Given the description of an element on the screen output the (x, y) to click on. 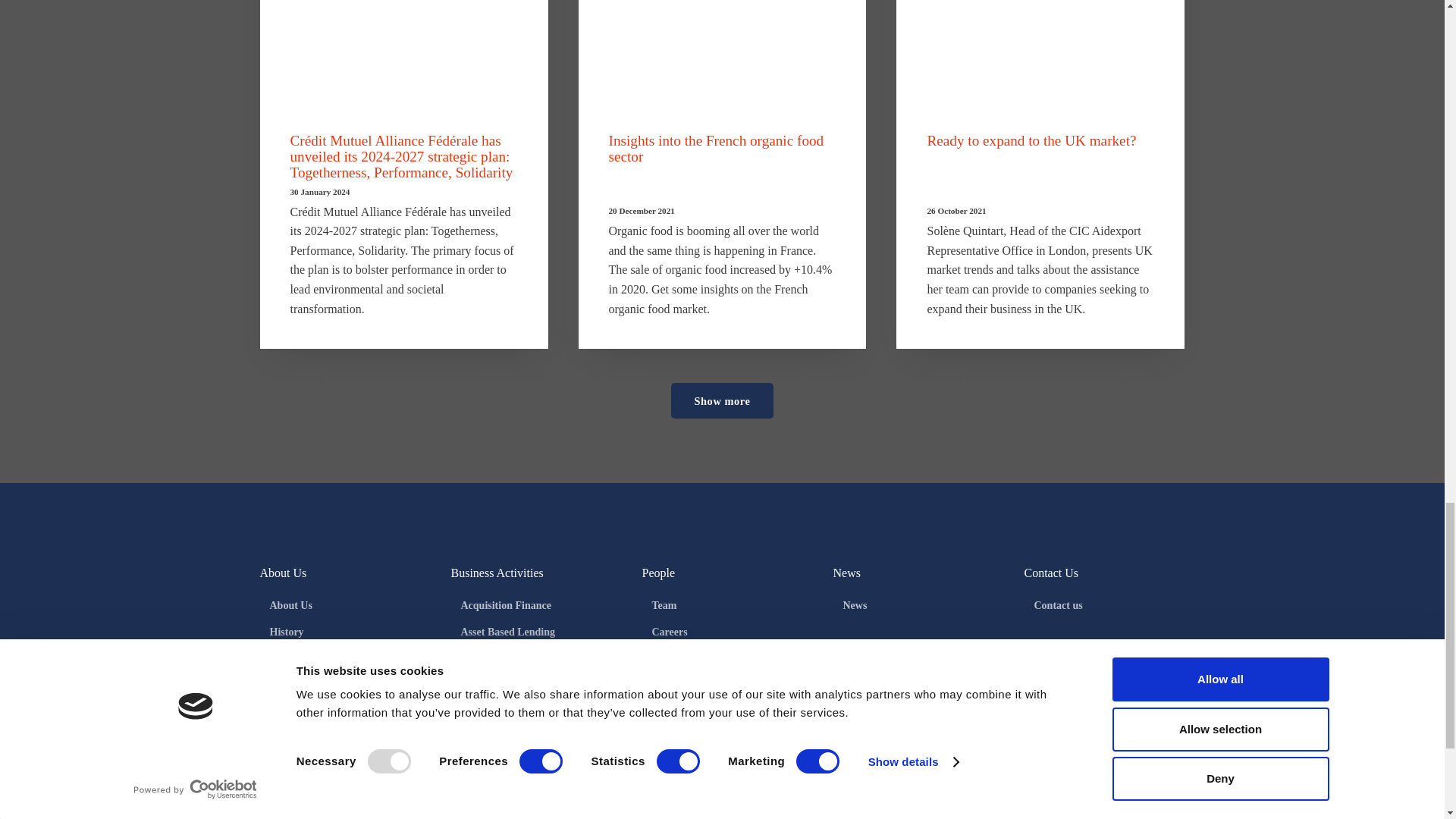
Ready to expand to the UK market? (1040, 51)
Insights into the French organic food sector  (722, 51)
Linked In (278, 807)
Insights into the French organic food sector  (716, 148)
Ready to expand to the UK market? (1030, 140)
YouTube (323, 807)
